Given the description of an element on the screen output the (x, y) to click on. 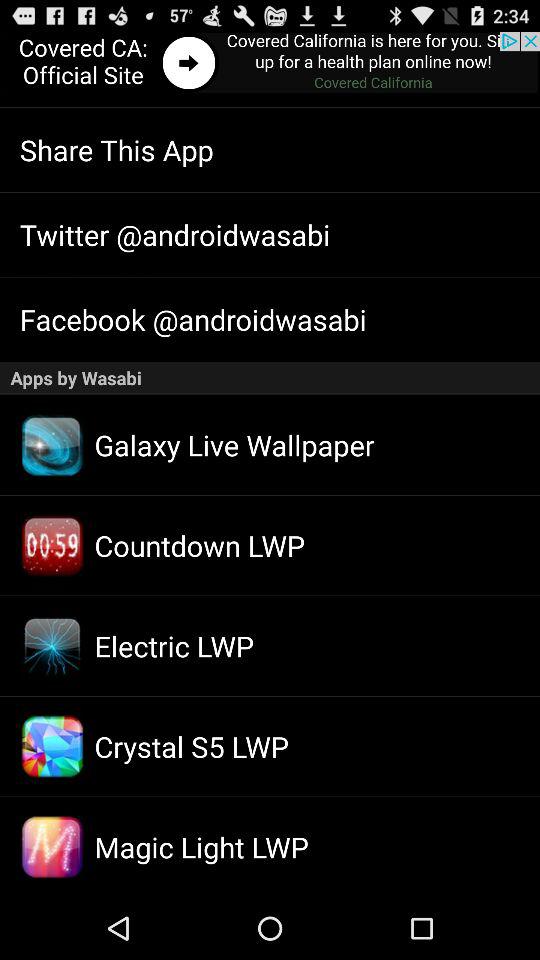
details about advertisement (270, 64)
